Given the description of an element on the screen output the (x, y) to click on. 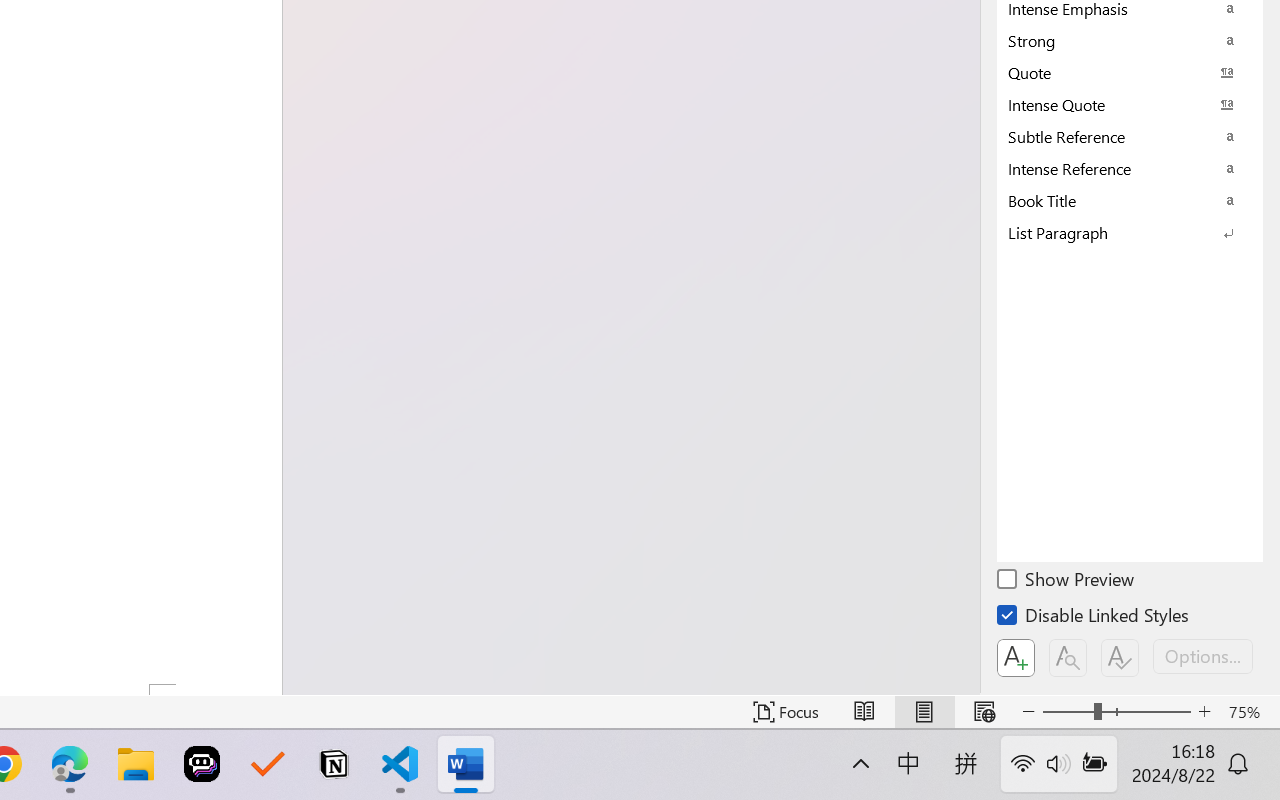
Zoom 75% (1249, 712)
Show Preview (1067, 582)
Quote (1130, 72)
List Paragraph (1130, 232)
Intense Reference (1130, 168)
Intense Quote (1130, 104)
Subtle Reference (1130, 136)
Options... (1203, 656)
Book Title (1130, 200)
Disable Linked Styles (1094, 618)
